Given the description of an element on the screen output the (x, y) to click on. 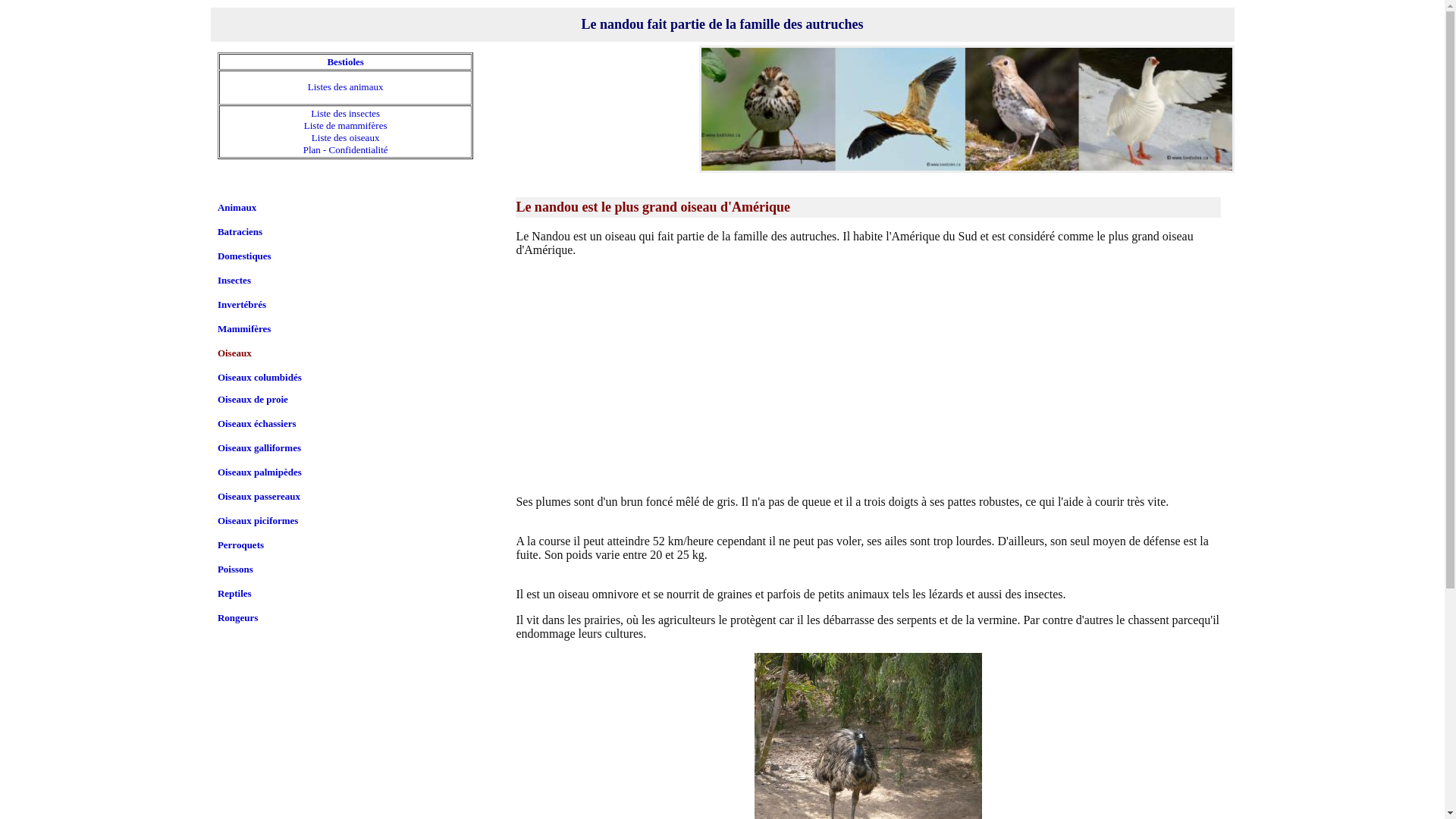
Insectes Element type: text (234, 279)
Listes des animaux Element type: text (345, 86)
Poissons Element type: text (235, 568)
Animaux Element type: text (236, 207)
Oiseaux Element type: text (234, 352)
Bestioles Element type: text (344, 61)
Liste des insectes Element type: text (344, 113)
Domestiques Element type: text (244, 255)
Advertisement Element type: hover (867, 375)
Reptiles Element type: text (234, 593)
Oiseaux galliformes Element type: text (259, 447)
Rongeurs Element type: text (237, 617)
Perroquets Element type: text (240, 544)
Oiseaux de proie Element type: text (252, 398)
Oiseaux piciformes Element type: text (257, 520)
Liste des oiseaux Element type: text (345, 137)
Batraciens Element type: text (239, 231)
Oiseaux passereaux Element type: text (258, 496)
